Given the description of an element on the screen output the (x, y) to click on. 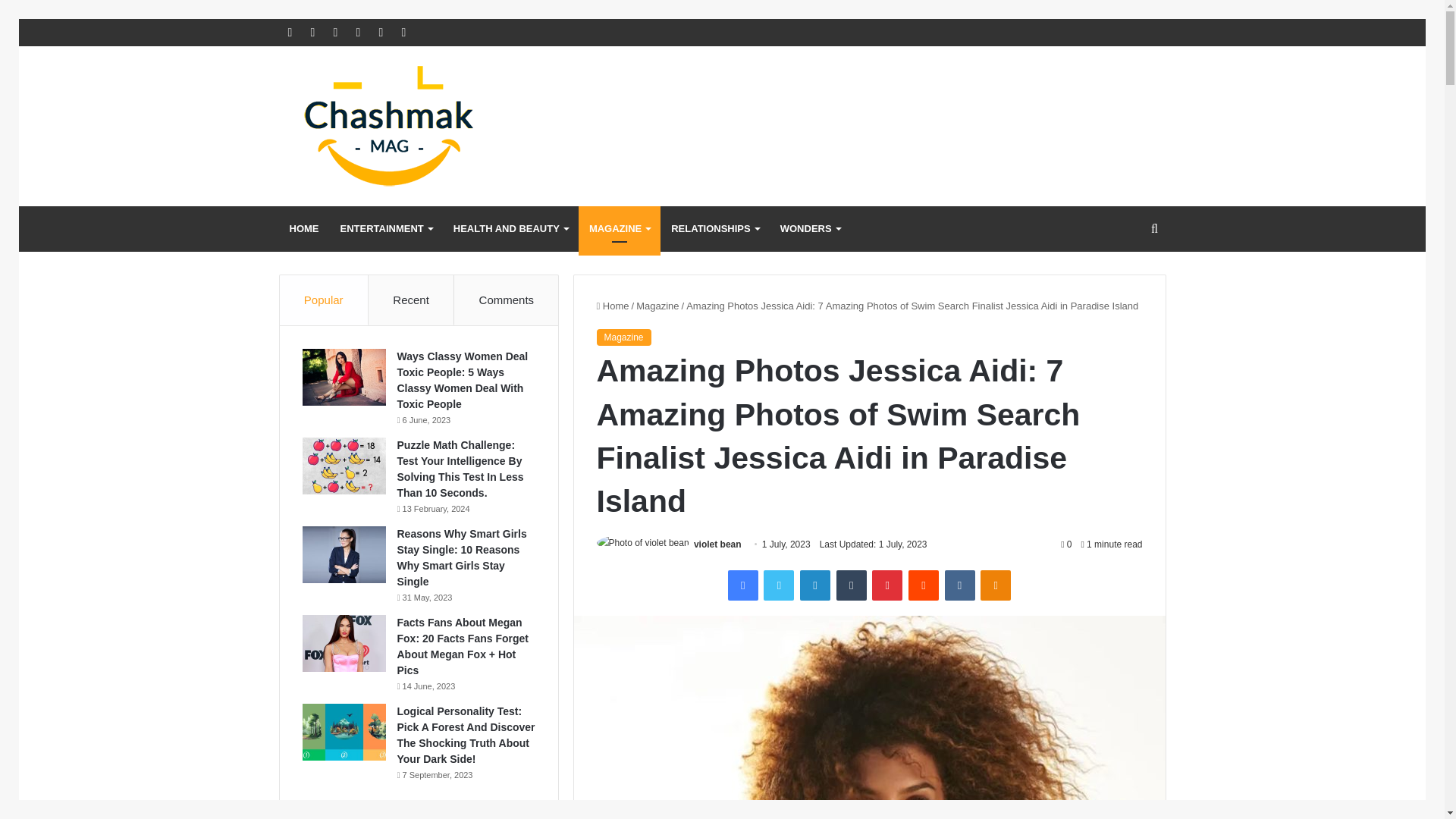
Tumblr (850, 585)
chashmak (418, 125)
Magazine (622, 337)
LinkedIn (814, 585)
RELATIONSHIPS (715, 228)
Facebook (743, 585)
Magazine (657, 306)
VKontakte (959, 585)
WONDERS (810, 228)
Home (611, 306)
Odnoklassniki (994, 585)
Facebook (743, 585)
ENTERTAINMENT (385, 228)
violet bean (717, 543)
HEALTH AND BEAUTY (510, 228)
